Given the description of an element on the screen output the (x, y) to click on. 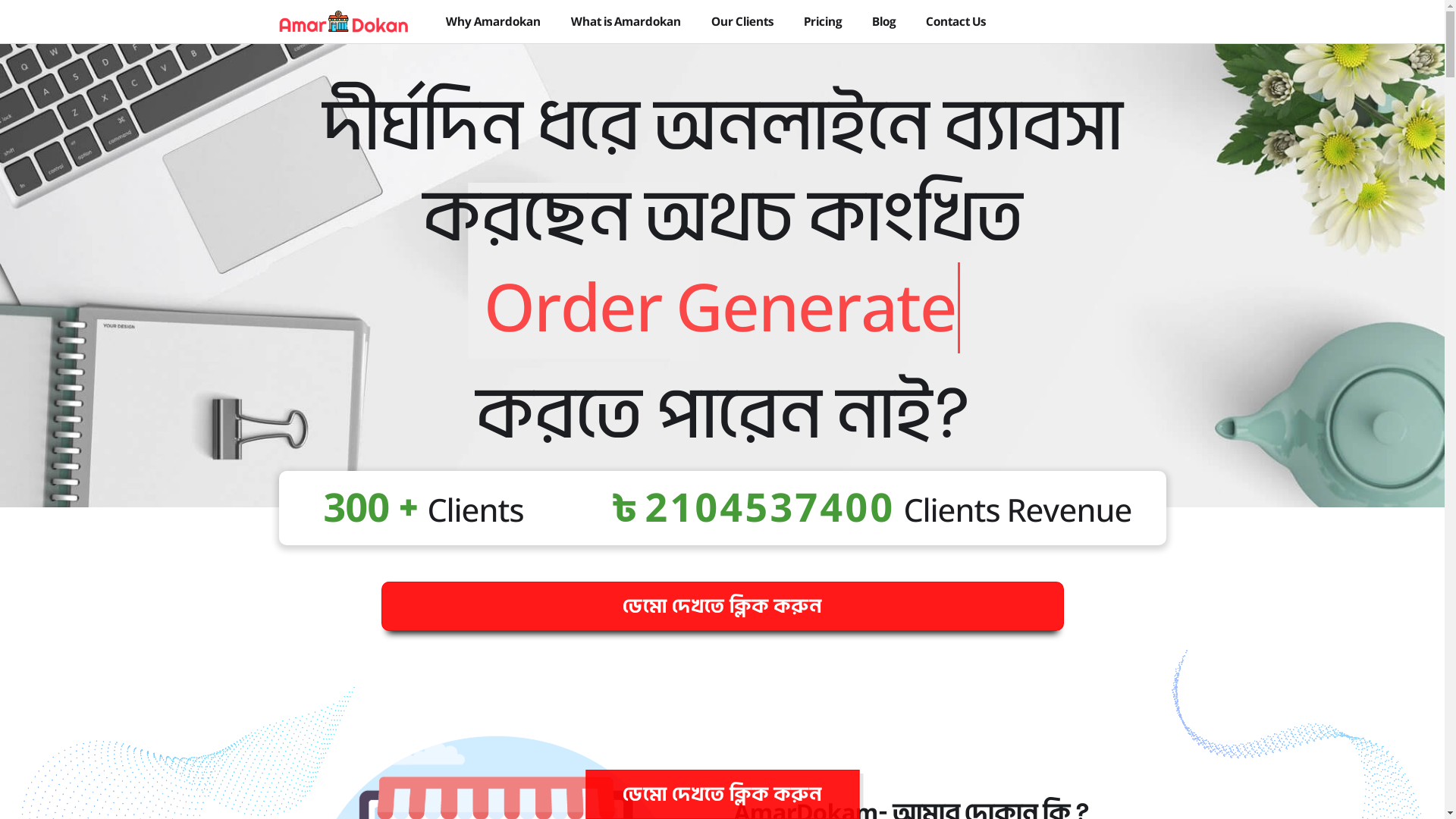
Blog Element type: text (883, 21)
What is Amardokan Element type: text (625, 21)
Why Amardokan Element type: text (492, 21)
Our Clients Element type: text (742, 21)
Pricing Element type: text (822, 21)
Contact Us Element type: text (955, 21)
